Given the description of an element on the screen output the (x, y) to click on. 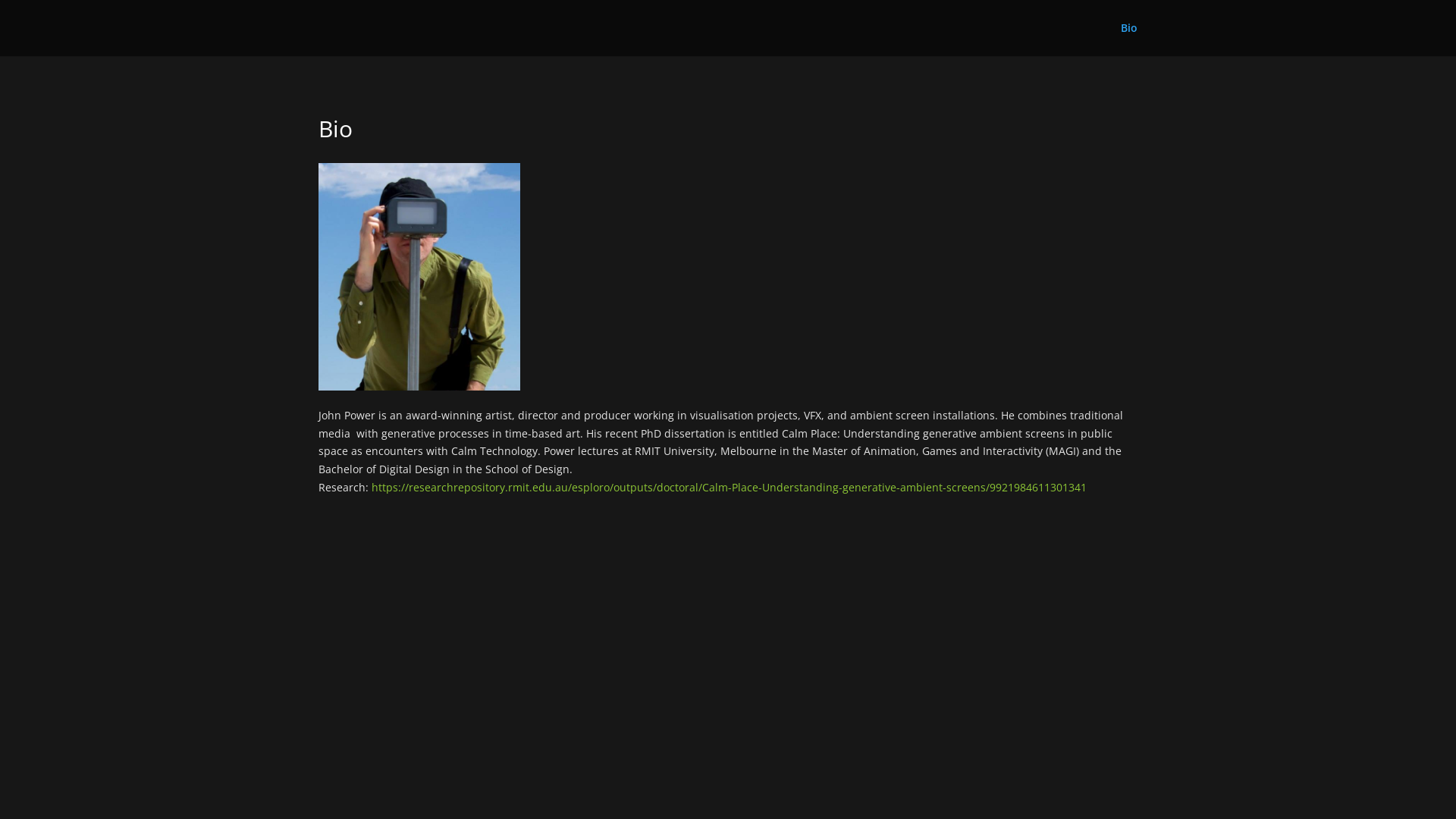
Bio Element type: text (1128, 39)
